Given the description of an element on the screen output the (x, y) to click on. 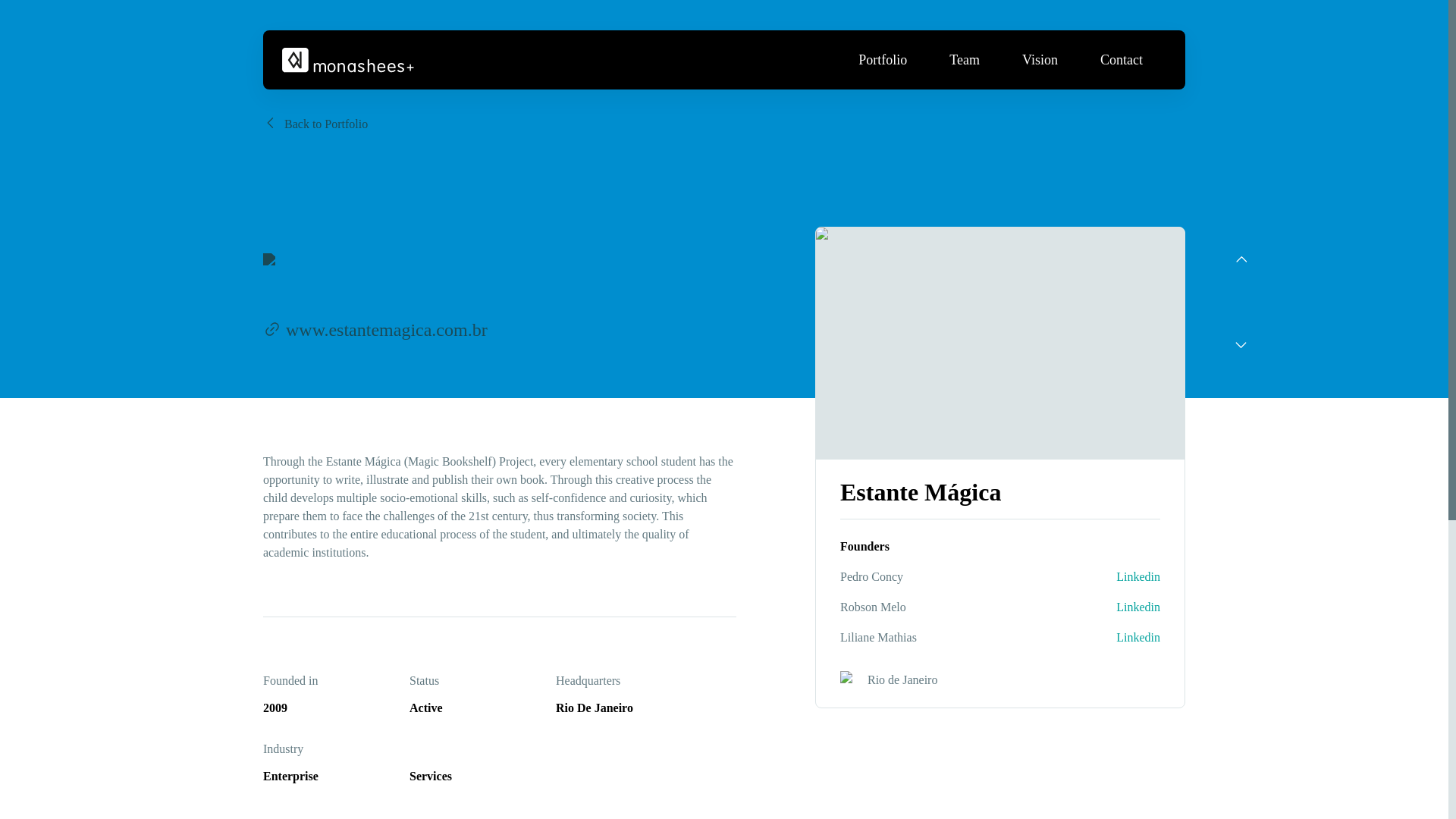
Portfolio (883, 59)
Investments (802, 694)
Linkedin (1138, 577)
True Sense of Belonging (960, 761)
Privacy Policy (1118, 694)
Founder's Support (960, 739)
How we see the world (960, 694)
All Companies (644, 694)
Back to Portfolio (315, 124)
Vision (1040, 59)
Team (964, 59)
The monashees Way (960, 717)
Vision (960, 661)
Contact (1118, 661)
Team (802, 661)
